Given the description of an element on the screen output the (x, y) to click on. 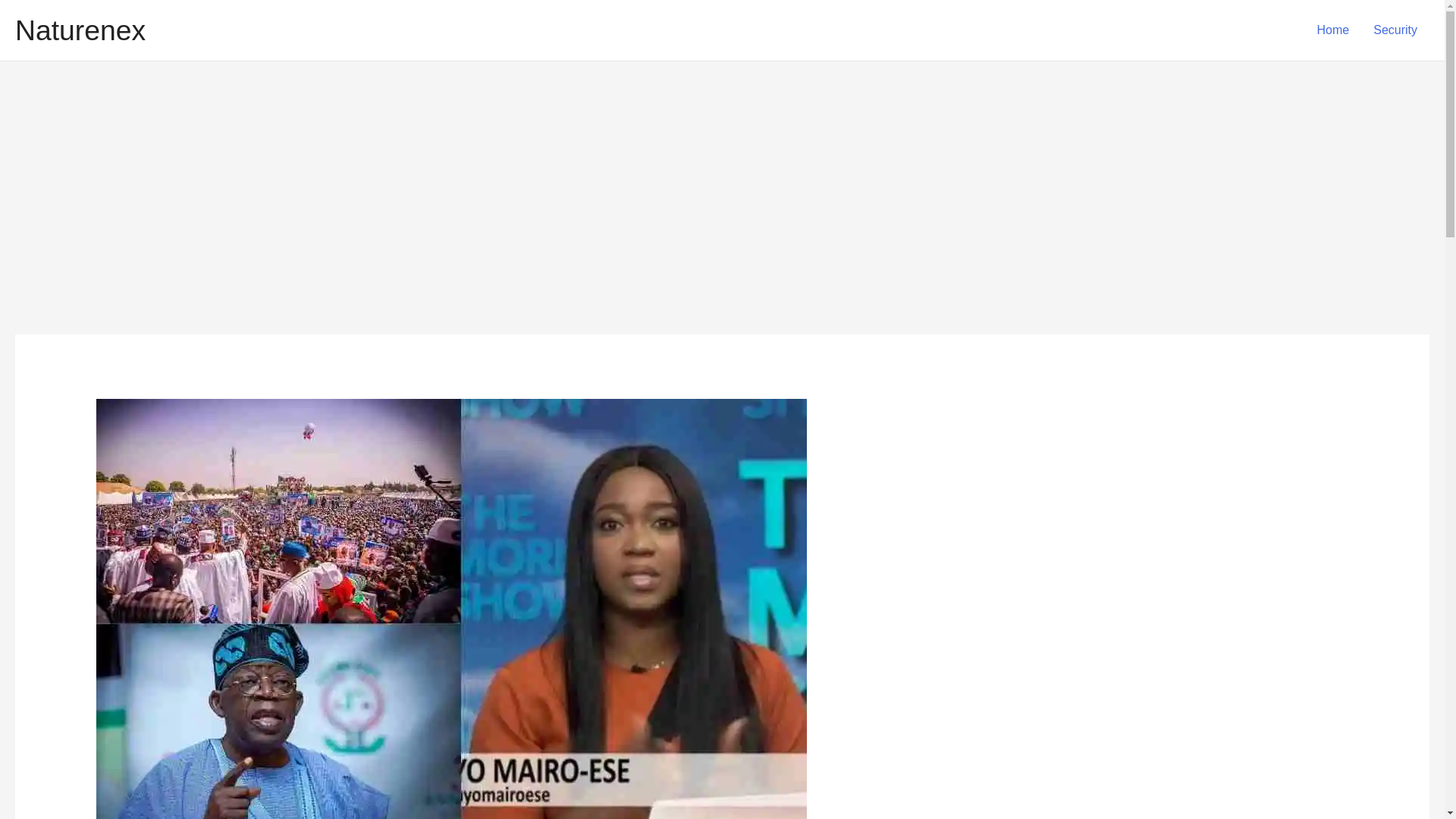
Naturenex (79, 29)
Security (1395, 30)
Home (1332, 30)
